Given the description of an element on the screen output the (x, y) to click on. 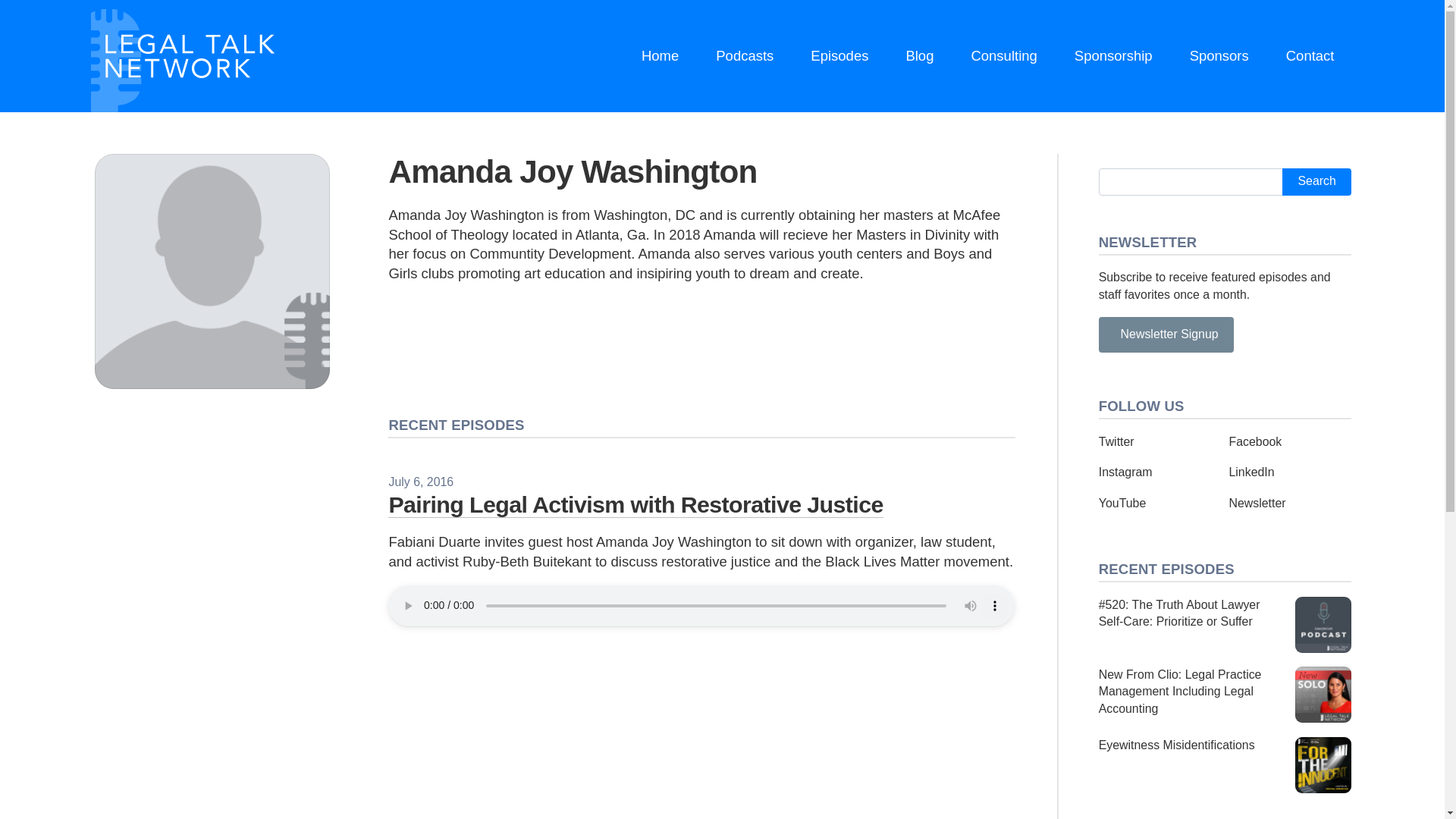
LinkedIn (1251, 472)
Consulting (1003, 56)
  Newsletter Signup (1166, 334)
Facebook (1254, 440)
Instagram (1126, 472)
Twitter (1116, 440)
Search (1316, 181)
Newsletter (1256, 502)
YouTube (1123, 502)
